Given the description of an element on the screen output the (x, y) to click on. 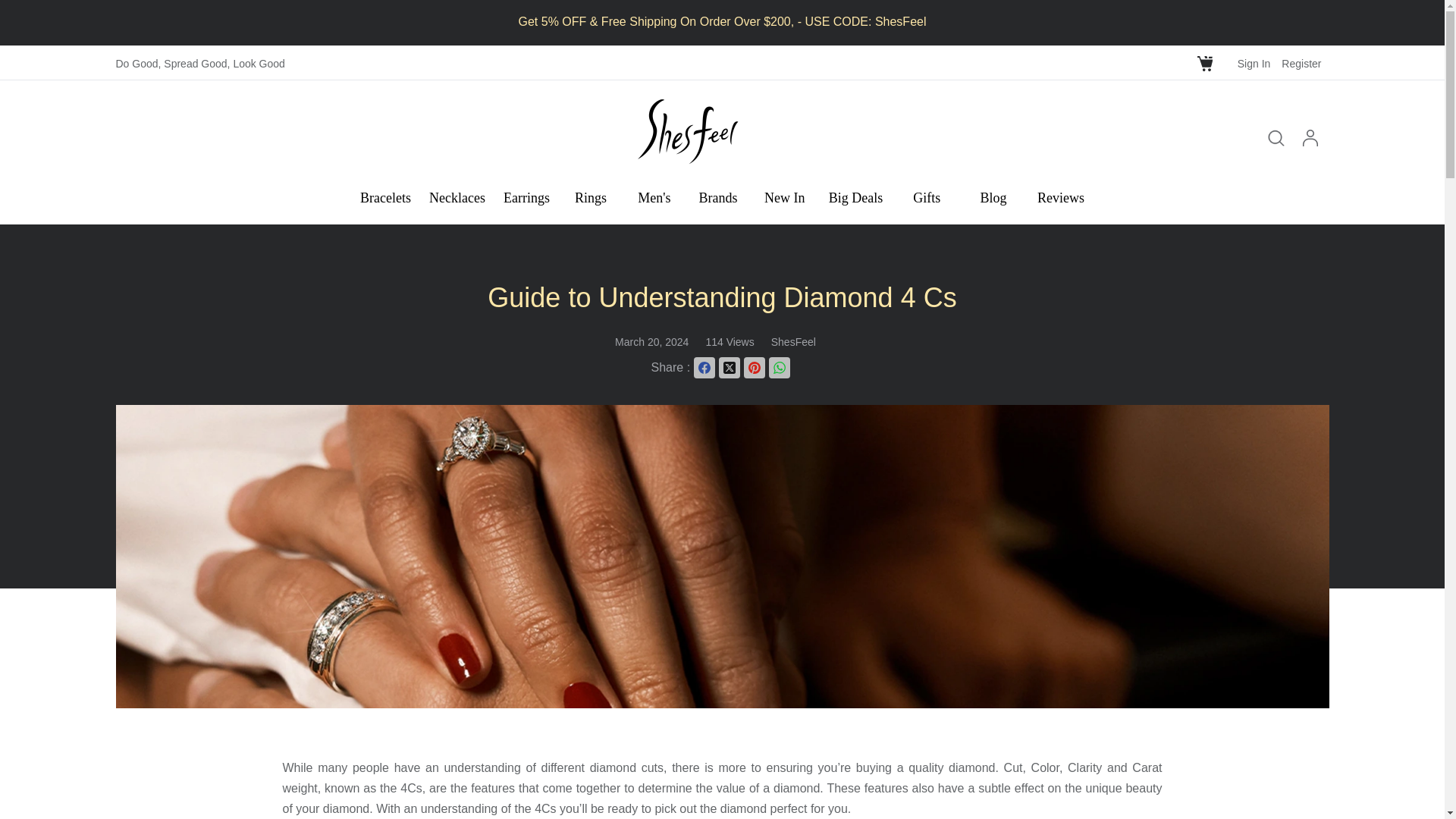
Sign In (1254, 63)
Necklaces (456, 197)
Register (1301, 63)
Bracelets (384, 197)
Shopping Cart (1206, 63)
